Given the description of an element on the screen output the (x, y) to click on. 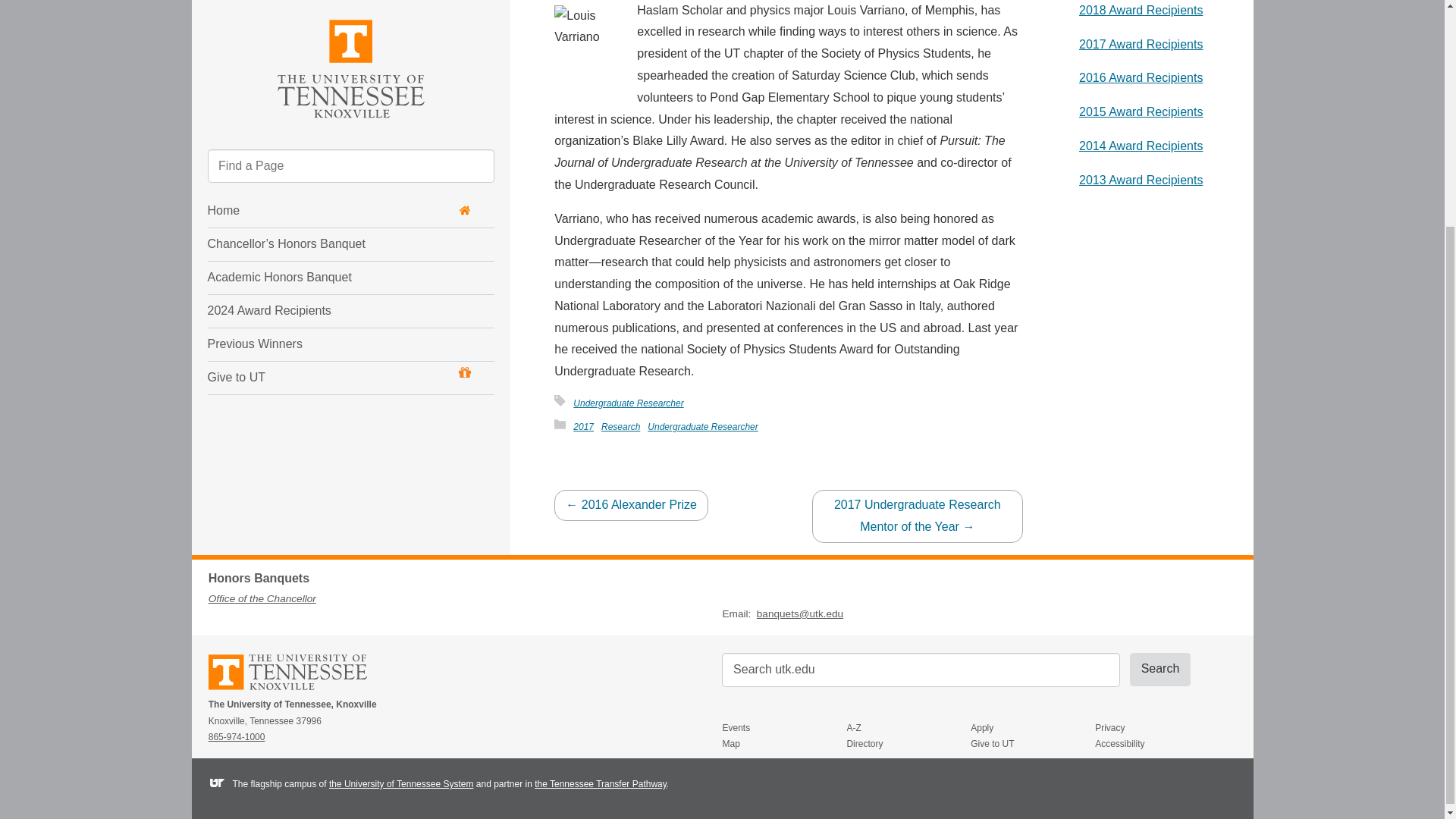
2016 Award Recipients (1140, 77)
Events (783, 728)
search (920, 669)
Search (1160, 669)
Give to UT (339, 74)
865-974-1000 (236, 737)
2017 Award Recipients (1140, 43)
Office of the Chancellor (261, 598)
2018 Award Recipients (1140, 10)
Undergraduate Researcher (627, 403)
Previous Winners (322, 41)
A-Z (908, 728)
The University of Tennessee, Knoxville (287, 688)
Apply (1032, 728)
Undergraduate Researcher (702, 426)
